Given the description of an element on the screen output the (x, y) to click on. 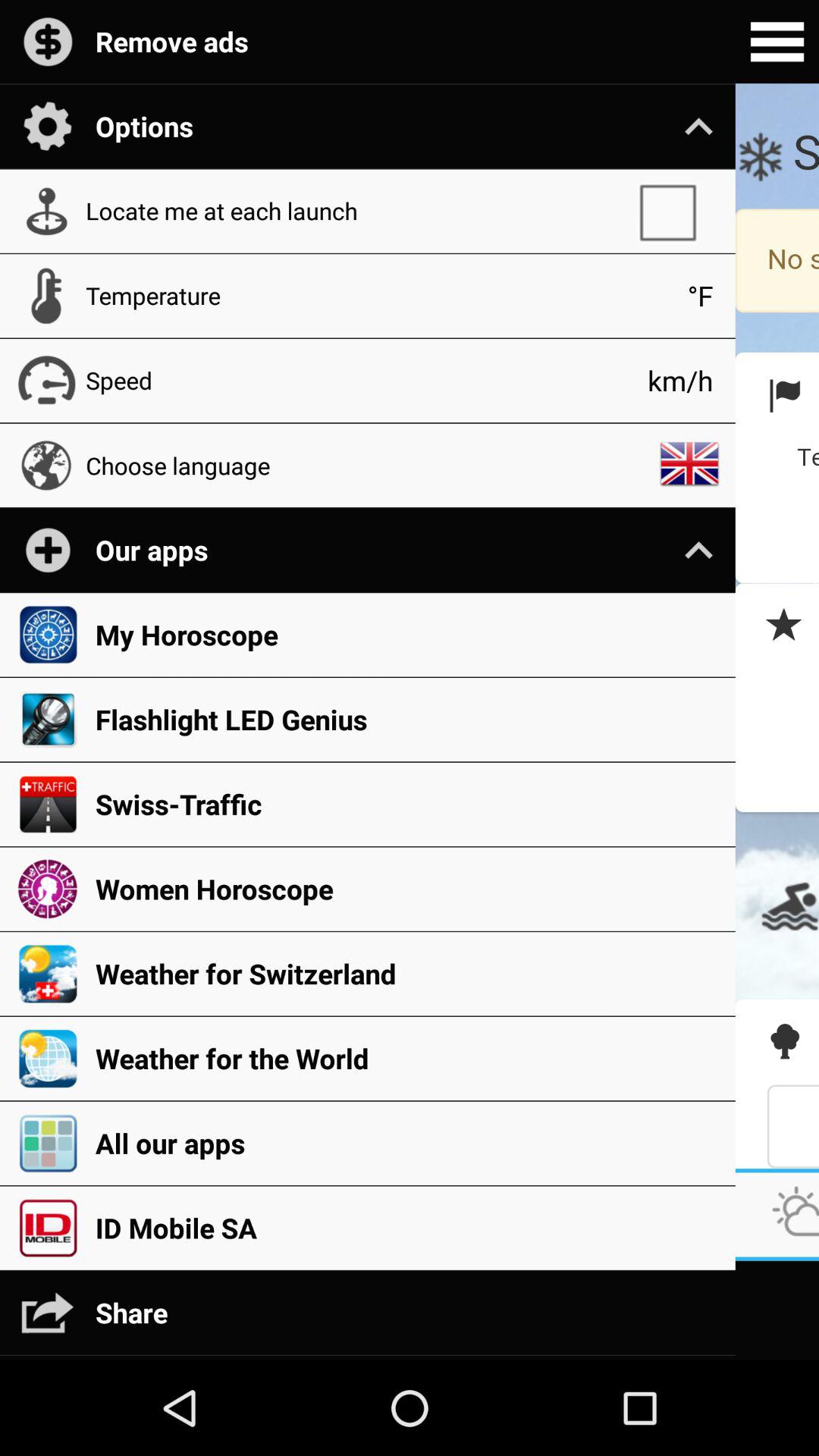
flip to locate me at icon (353, 210)
